Given the description of an element on the screen output the (x, y) to click on. 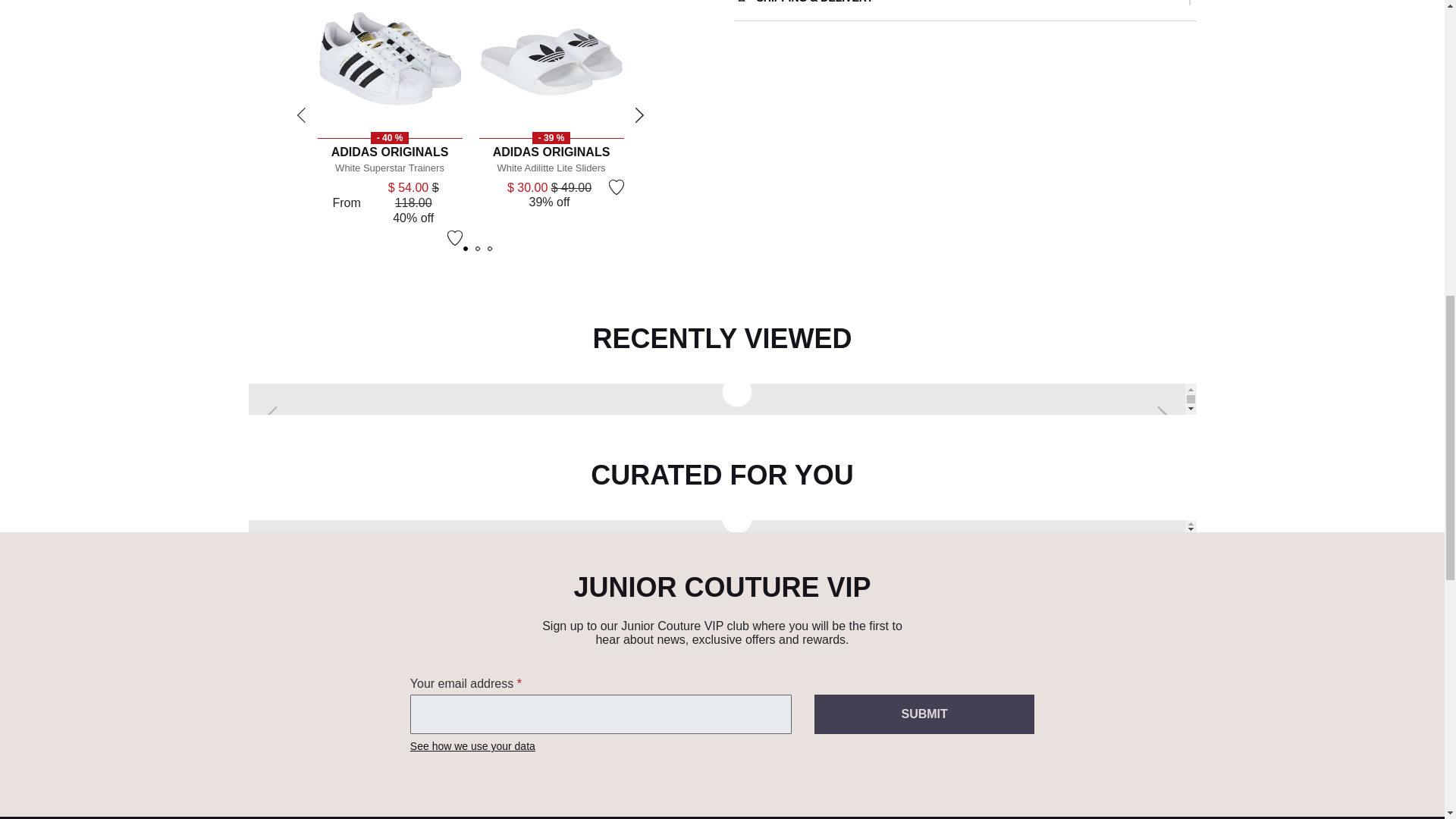
Wishlist (615, 186)
adidas Originals White Adilitte Lite Sliders, 1 (551, 65)
Wishlist (454, 237)
adidas Originals White Superstar Trainers, 1 (389, 65)
